Given the description of an element on the screen output the (x, y) to click on. 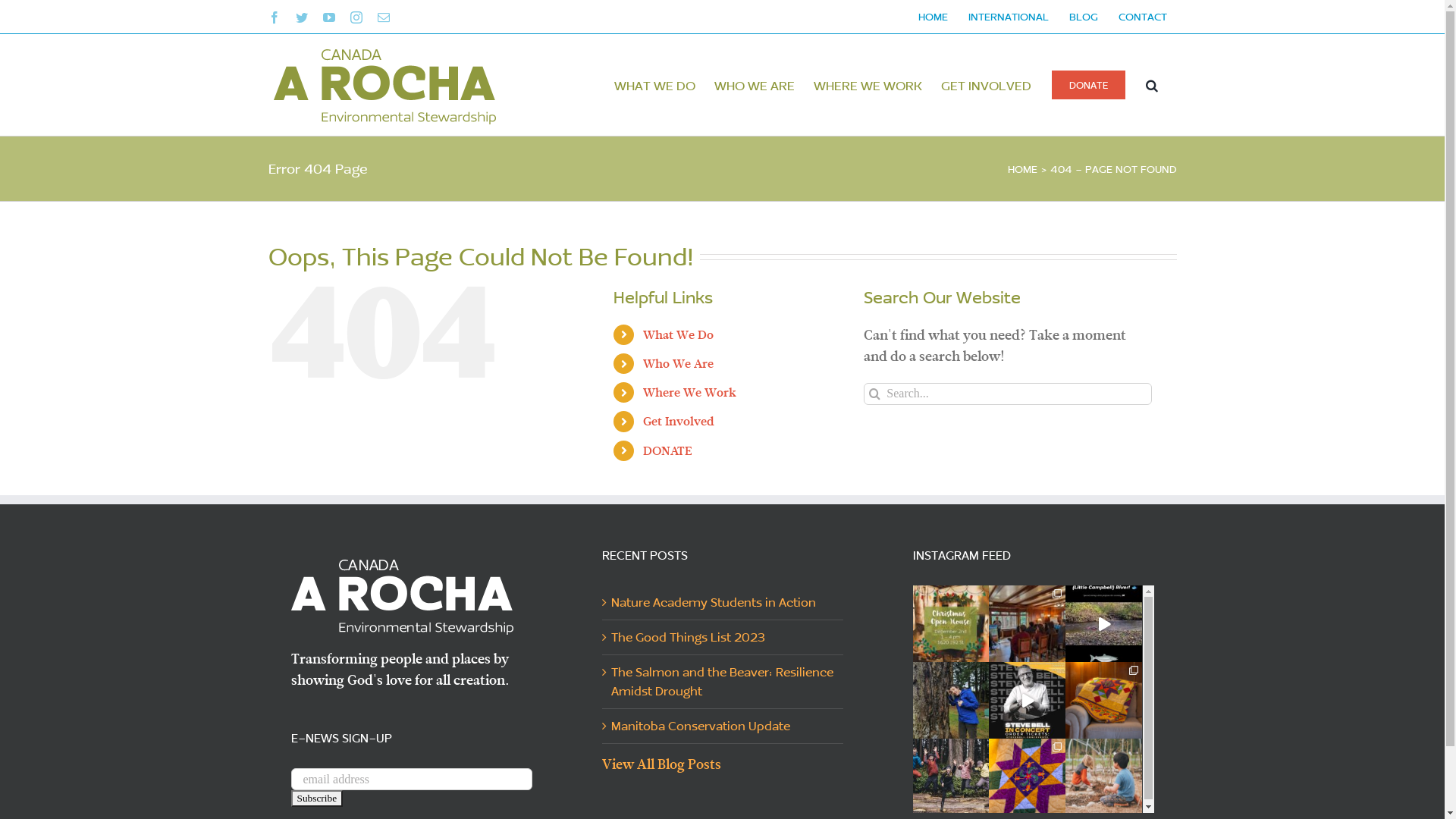
Search Element type: hover (1151, 84)
WHAT WE DO Element type: text (654, 84)
Email Element type: text (383, 17)
Manitoba Conservation Update Element type: text (723, 725)
WHO WE ARE Element type: text (754, 84)
View All Blog Posts Element type: text (661, 764)
twitter Element type: text (301, 17)
instagram Element type: text (356, 17)
What We Do Element type: text (678, 334)
BLOG Element type: text (1082, 16)
youtube Element type: text (329, 17)
DONATE Element type: text (667, 450)
HOME Element type: text (1021, 168)
The Good Things List 2023 Element type: text (723, 636)
WHERE WE WORK Element type: text (866, 84)
HOME Element type: text (932, 16)
Who We Are Element type: text (678, 363)
facebook Element type: text (274, 17)
Subscribe Element type: text (317, 798)
CONTACT Element type: text (1142, 16)
Where We Work Element type: text (689, 392)
GET INVOLVED Element type: text (985, 84)
Nature Academy Students in Action Element type: text (723, 602)
Get Involved Element type: text (678, 421)
INTERNATIONAL Element type: text (1008, 16)
DONATE Element type: text (1087, 84)
The Salmon and the Beaver: Resilience Amidst Drought Element type: text (723, 681)
